Given the description of an element on the screen output the (x, y) to click on. 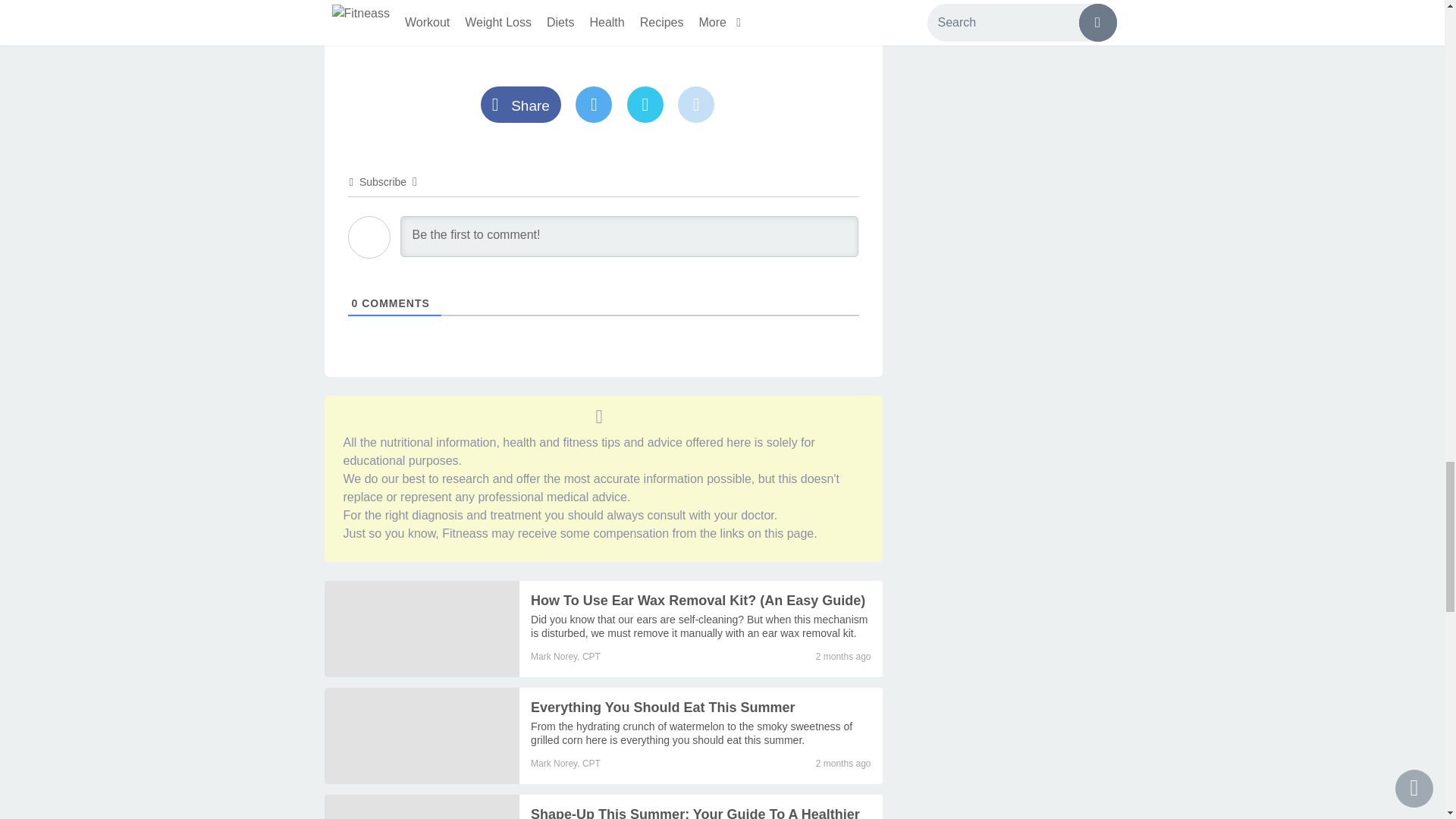
Everything You Should Eat This Summer (691, 733)
Shape-Up This Summer: Your Guide to a Healthier You (695, 812)
Everything You Should Eat This Summer (421, 735)
Everything You Should Eat This Summer (662, 707)
Shape-Up This Summer: Your Guide to a Healthier You (421, 806)
Share (528, 106)
